Given the description of an element on the screen output the (x, y) to click on. 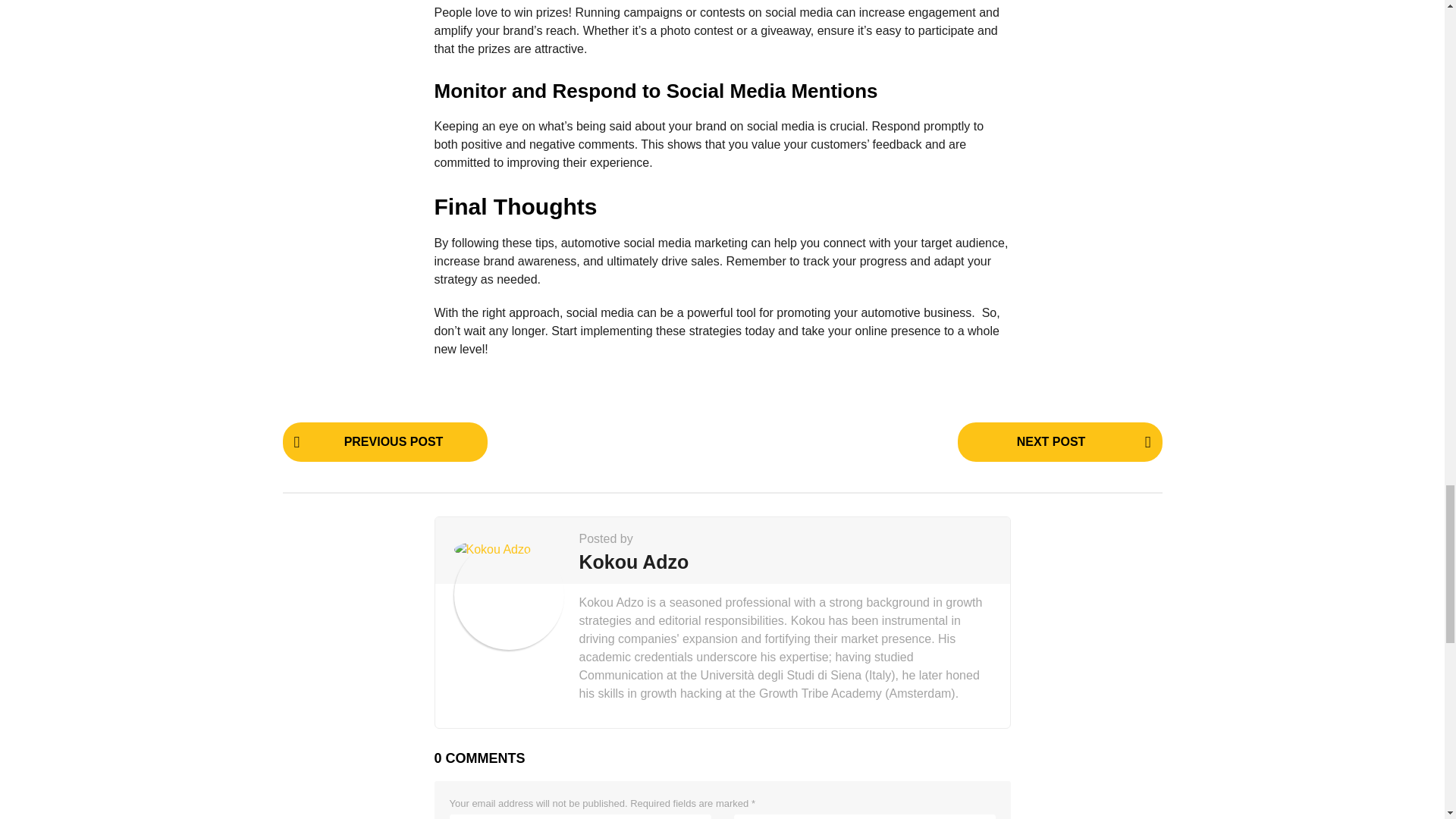
NEXT POST (1058, 442)
Kokou Adzo (633, 561)
PREVIOUS POST (384, 442)
